Given the description of an element on the screen output the (x, y) to click on. 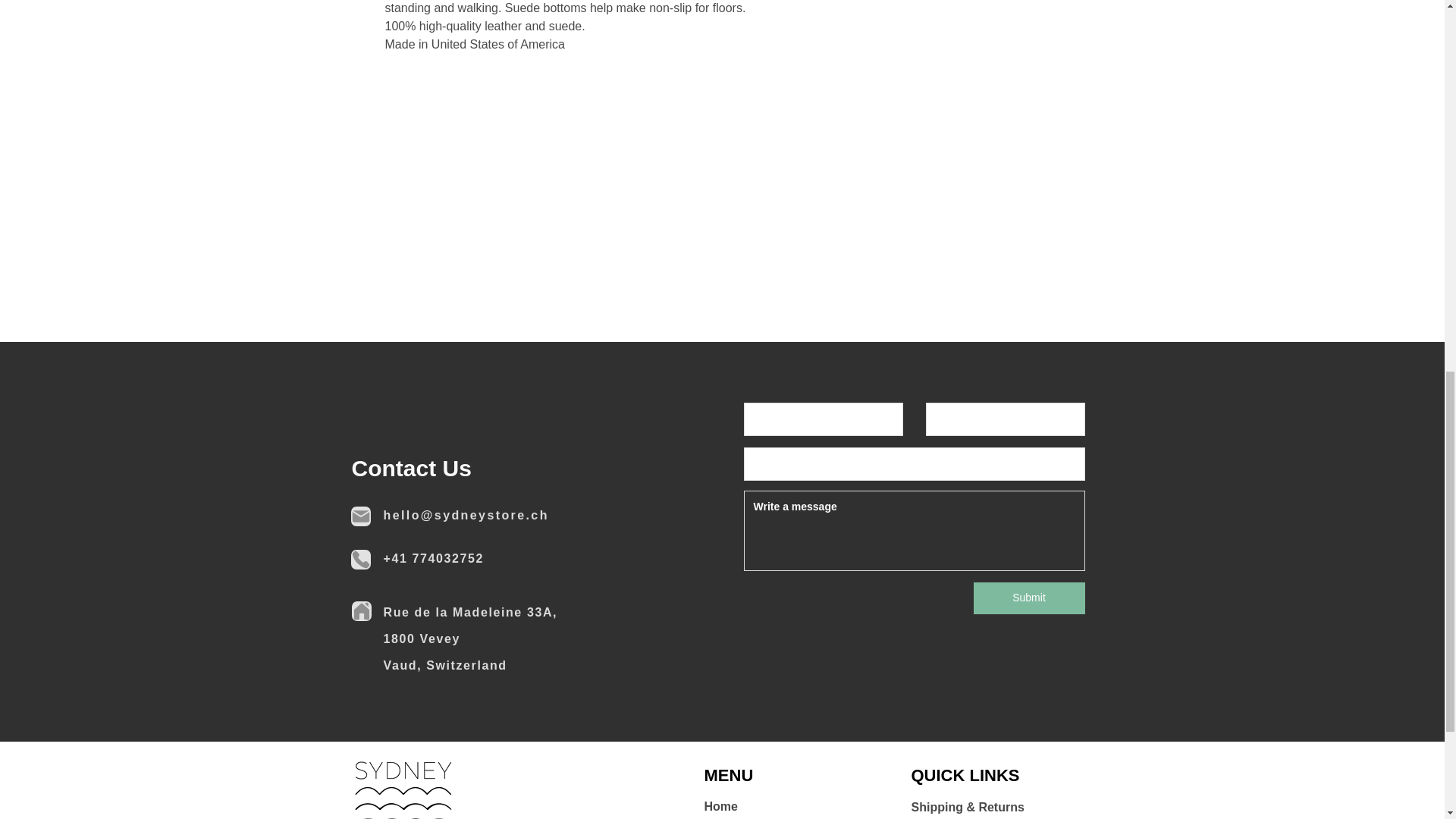
Submit (1029, 598)
Home (719, 806)
